Given the description of an element on the screen output the (x, y) to click on. 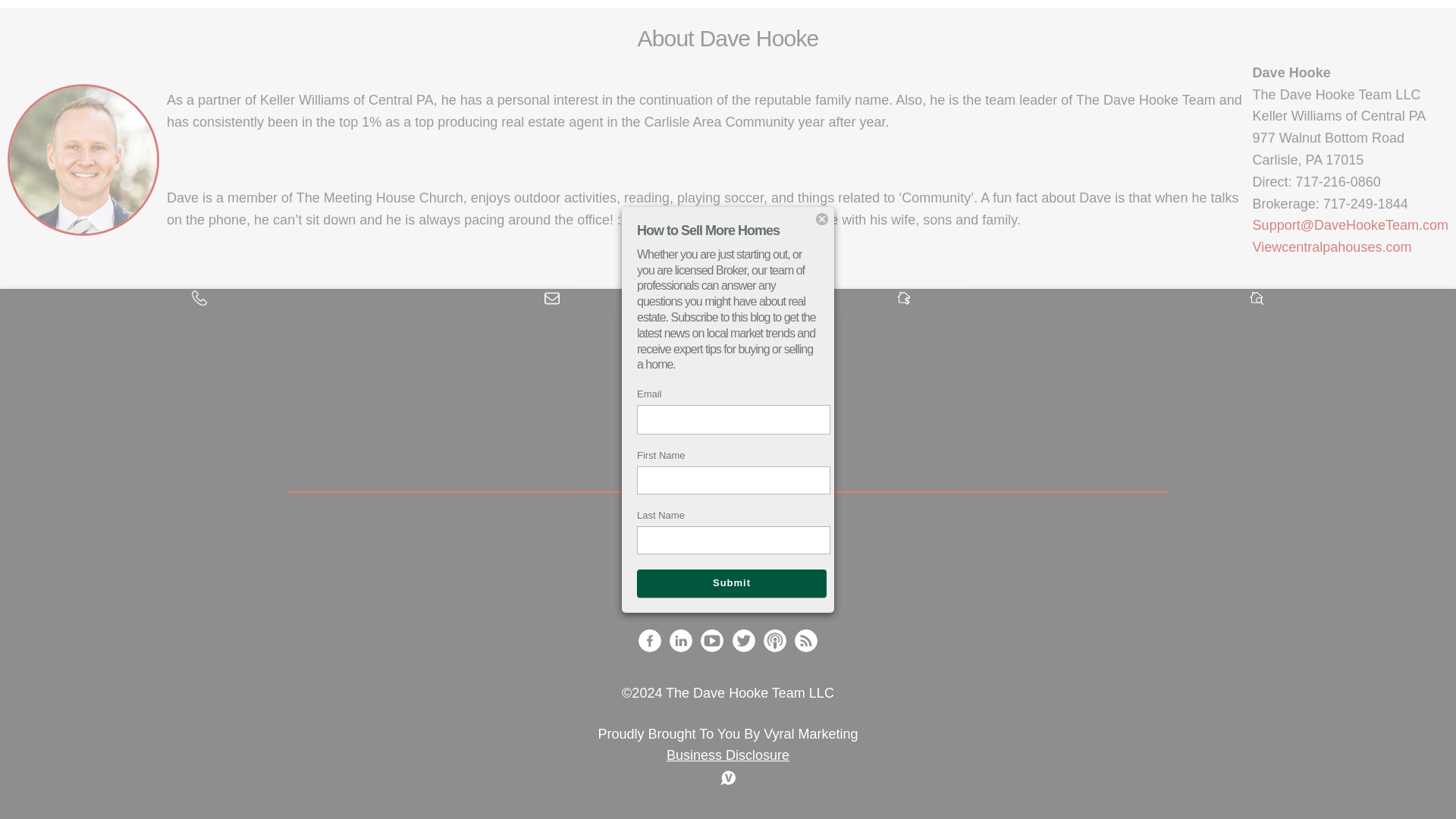
Twitter (743, 640)
Facbook (650, 640)
Linkedin (681, 640)
YouTube (711, 640)
